Given the description of an element on the screen output the (x, y) to click on. 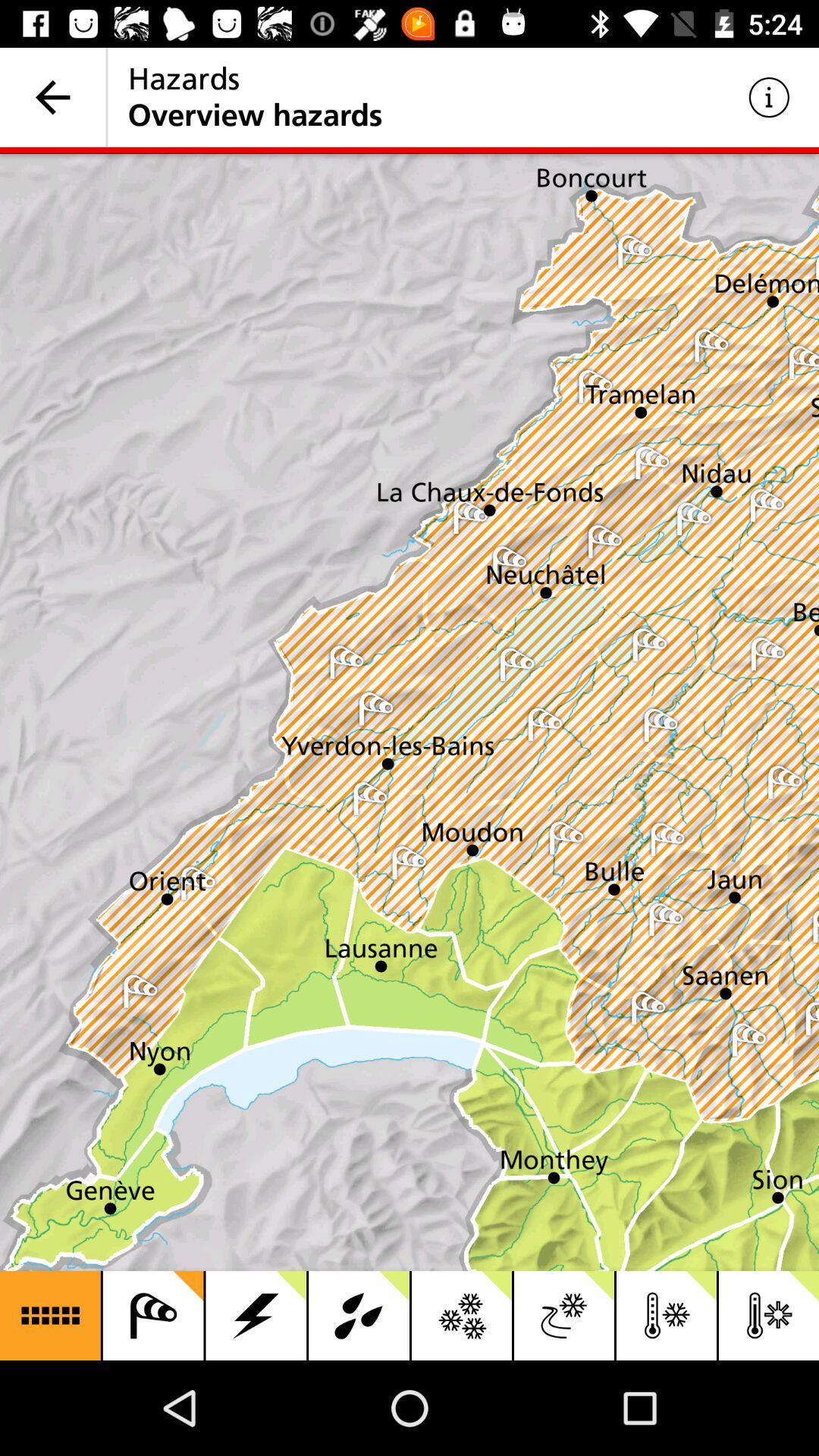
press item next to the hazards (769, 97)
